Given the description of an element on the screen output the (x, y) to click on. 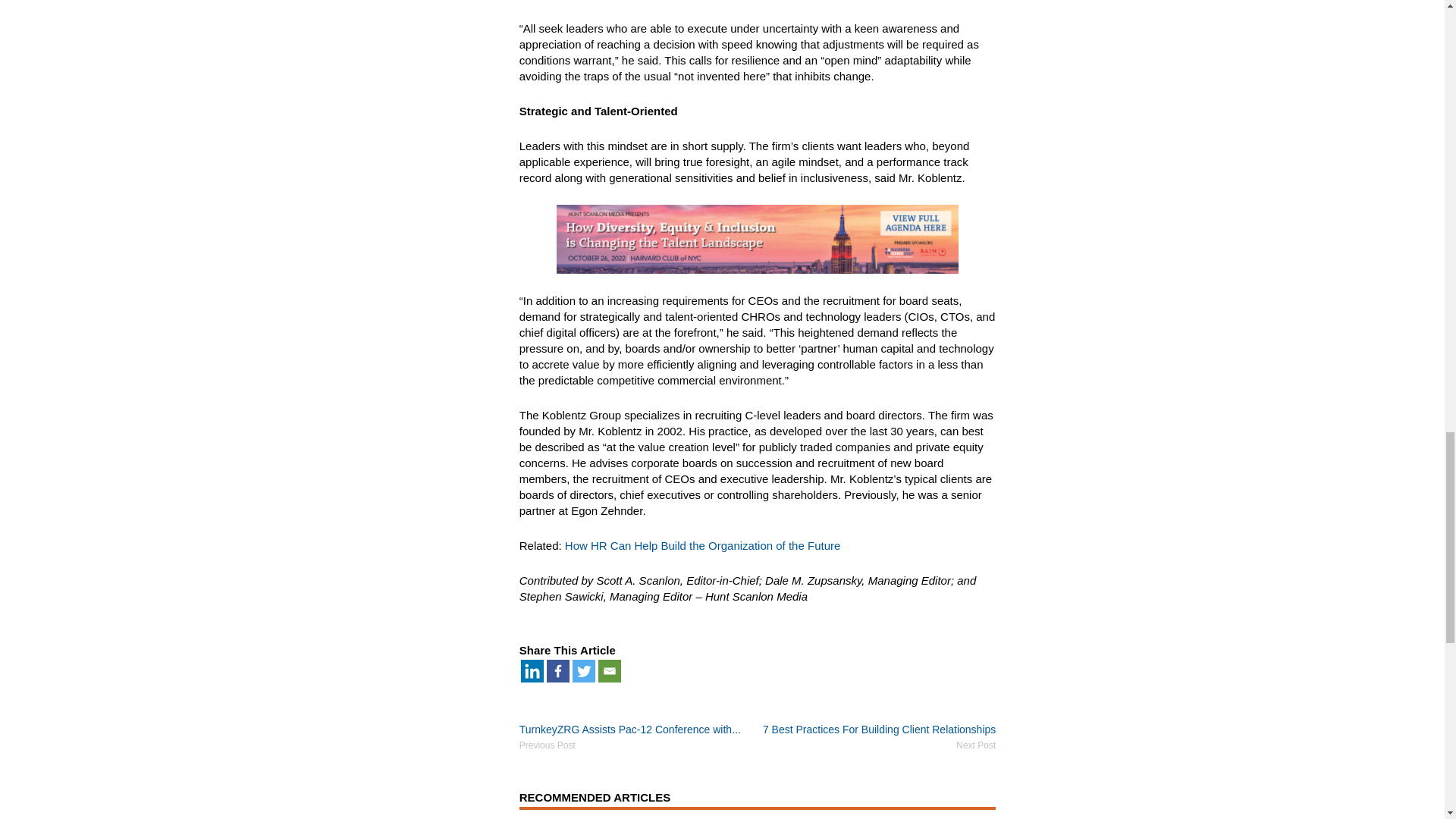
Facebook (558, 671)
Email (609, 671)
Linkedin (532, 671)
Twitter (583, 671)
